Given the description of an element on the screen output the (x, y) to click on. 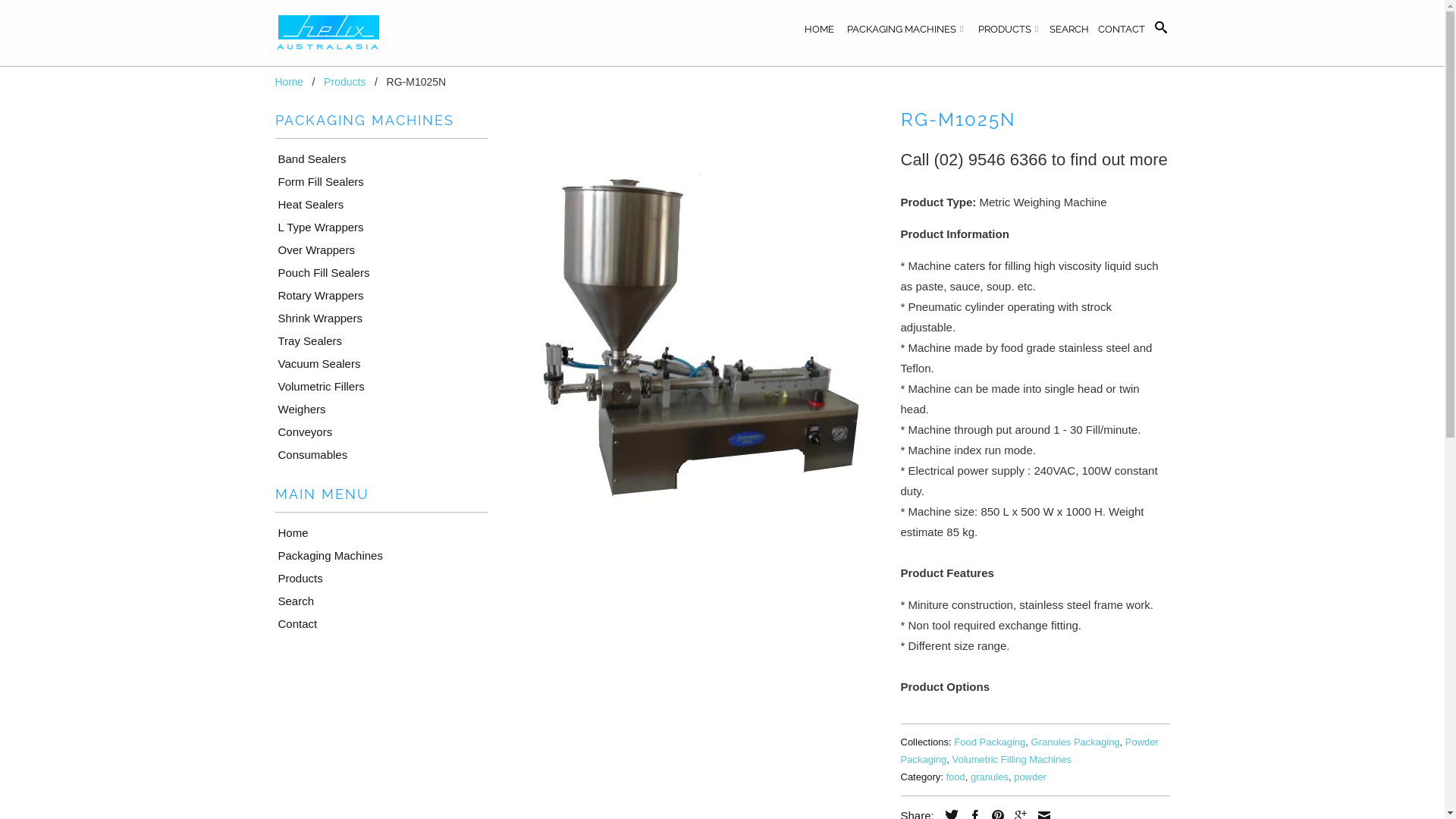
HOME Element type: text (819, 32)
Consumables Element type: text (307, 454)
granules Element type: text (989, 776)
Rotary Wrappers Element type: text (315, 294)
SEARCH Element type: text (1068, 32)
powder Element type: text (1029, 776)
Granules Packaging Element type: text (1075, 741)
Conveyors Element type: text (300, 431)
Tray Sealers Element type: text (304, 340)
Food Packaging Element type: text (989, 741)
Packaging Machines Element type: text (325, 555)
Vacuum Sealers Element type: text (314, 363)
Band Sealers Element type: text (306, 158)
Pouch Fill Sealers Element type: text (318, 272)
RG-M1025N Metric Weighing Machine Element type: hover (693, 323)
Products Element type: text (344, 81)
Home Element type: text (288, 81)
CONTACT Element type: text (1121, 32)
Helix Packaging Element type: hover (380, 32)
L Type Wrappers Element type: text (315, 226)
Over Wrappers Element type: text (311, 249)
Form Fill Sealers Element type: text (315, 181)
Shrink Wrappers Element type: text (314, 317)
Heat Sealers Element type: text (305, 203)
Products Element type: text (295, 577)
Search Element type: text (290, 600)
Volumetric Filling Machines Element type: text (1011, 759)
Search Element type: hover (1160, 30)
Home Element type: text (287, 532)
food Element type: text (955, 776)
Powder Packaging Element type: text (1029, 750)
Volumetric Fillers Element type: text (316, 385)
Contact Element type: text (292, 623)
Weighers Element type: text (296, 408)
